Given the description of an element on the screen output the (x, y) to click on. 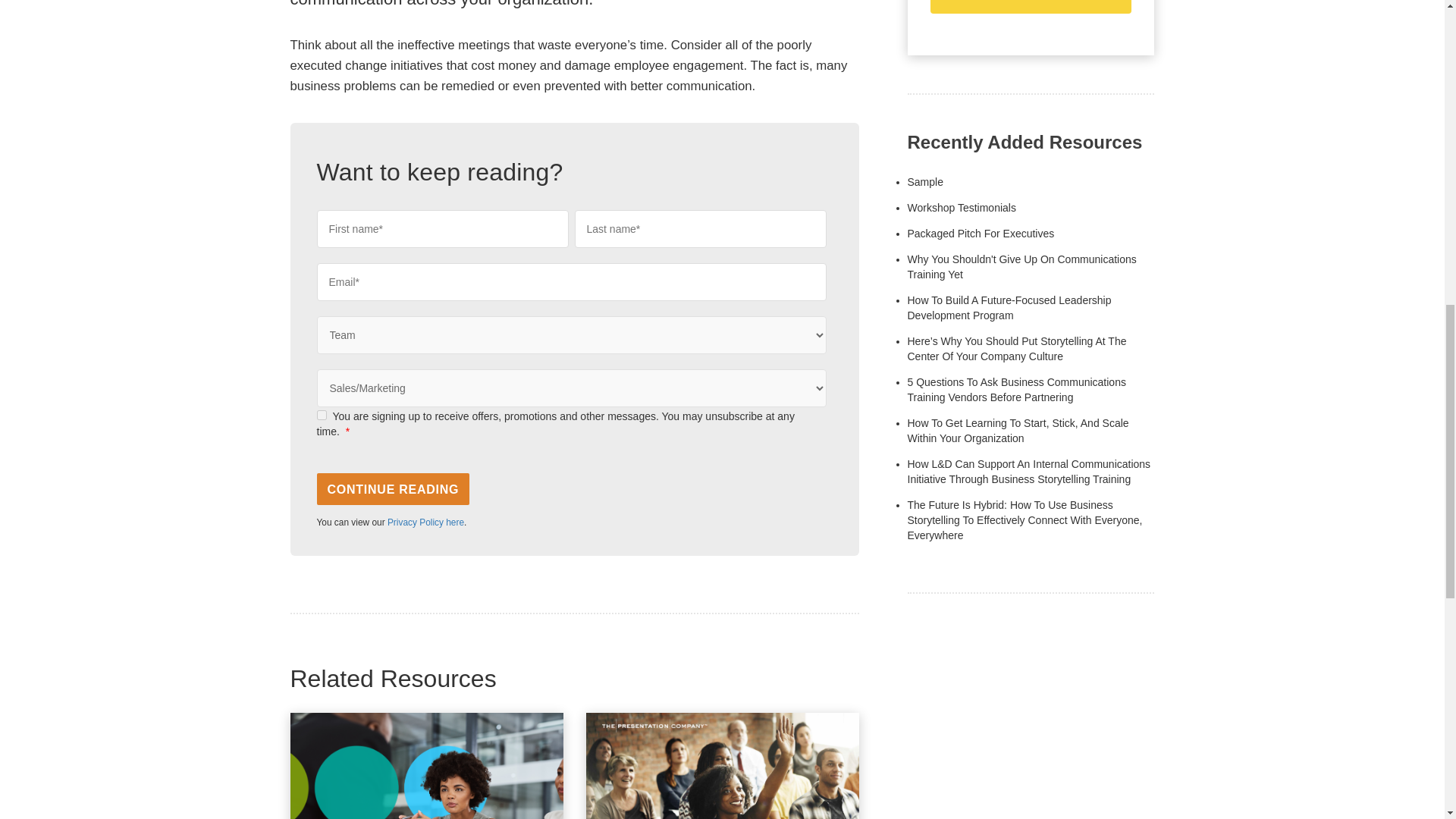
Continue Reading (393, 489)
true (321, 415)
Look Packaged Pitch for Executives (980, 233)
Look Workshop Testimonials (960, 207)
Look Sample (924, 182)
